Given the description of an element on the screen output the (x, y) to click on. 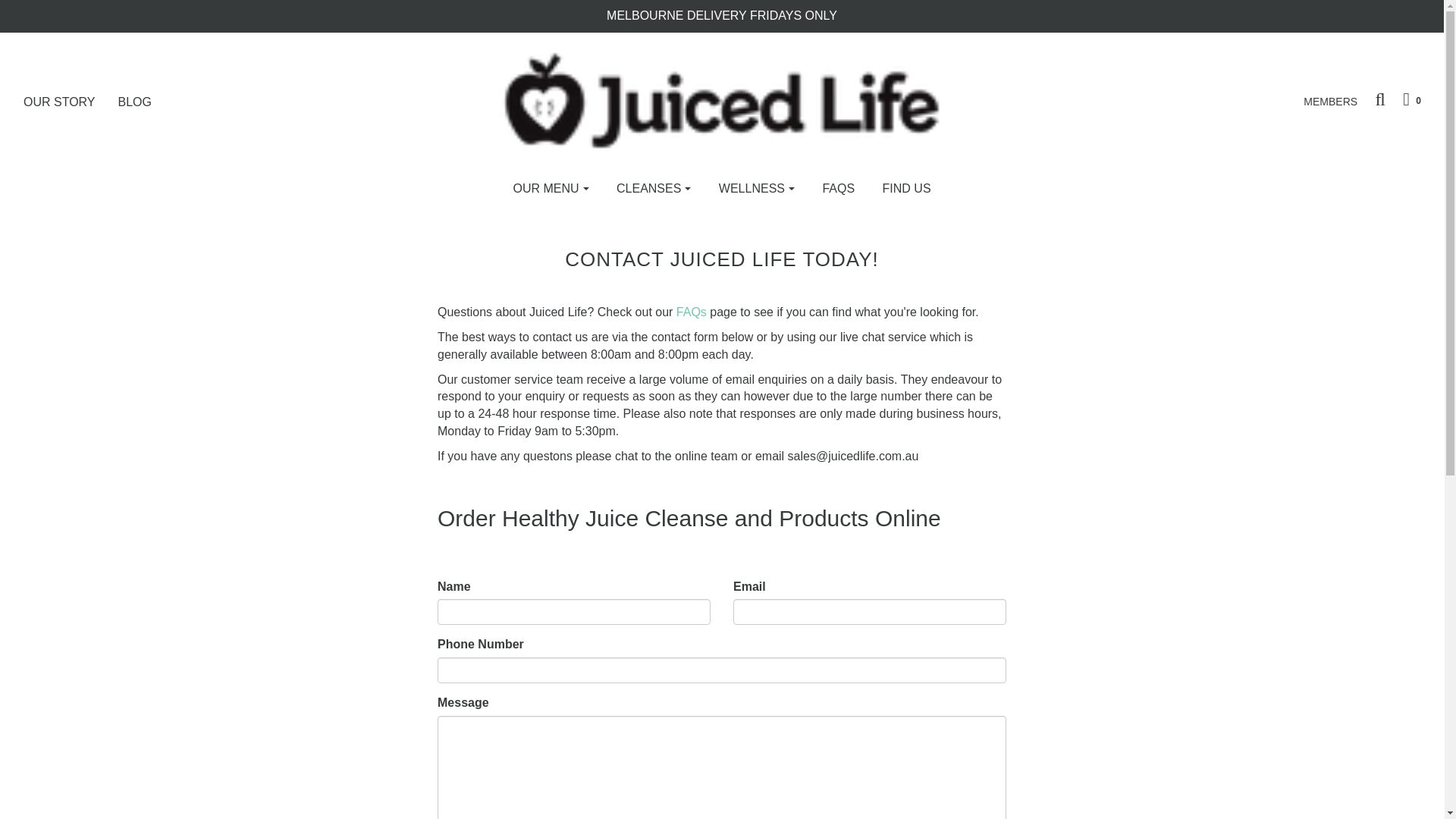
MEMBERS (1322, 105)
0 (1404, 99)
FAQs (691, 311)
BLOG (145, 102)
OUR STORY (70, 102)
CLEANSES (653, 188)
Your Cart (1404, 99)
Search (1372, 99)
OUR MENU (549, 188)
MELBOURNE DELIVERY FRIDAYS ONLY (722, 16)
